Given the description of an element on the screen output the (x, y) to click on. 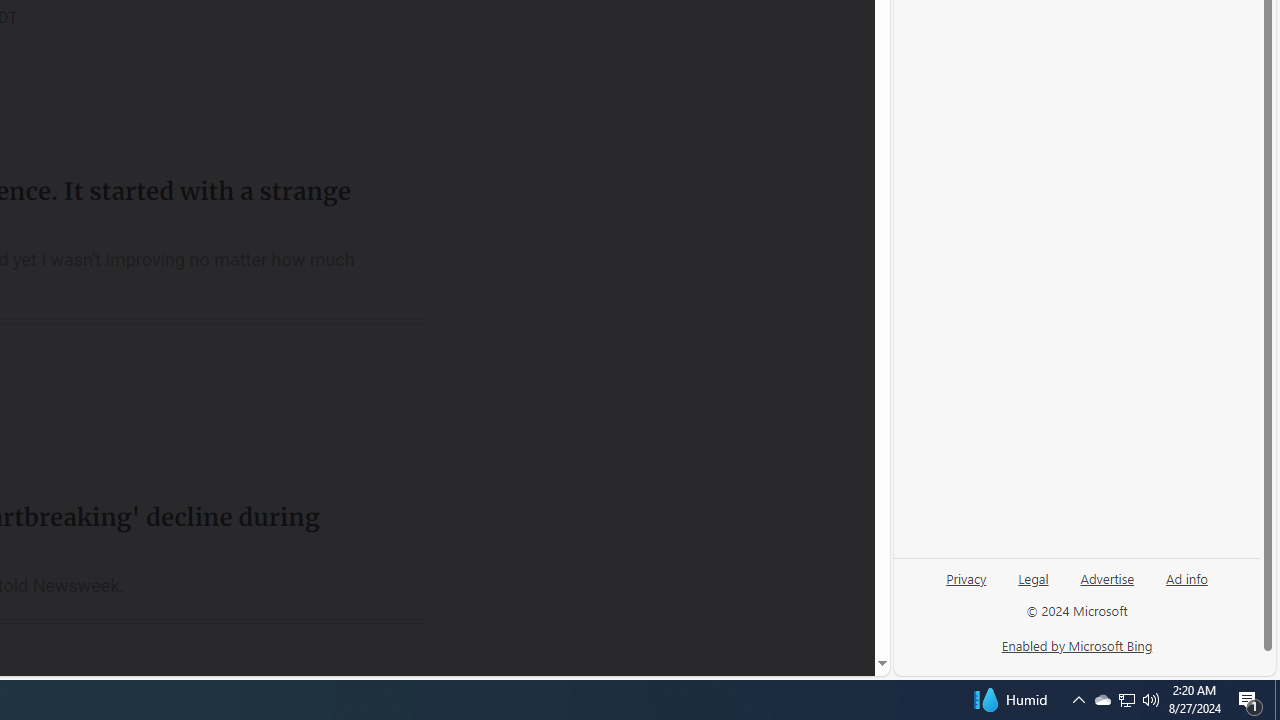
Privacy (965, 577)
Advertise (1107, 577)
Ad info (1186, 586)
Legal (1033, 577)
Ad info (1187, 577)
Advertise (1106, 586)
Legal (1033, 586)
Privacy (966, 586)
